Given the description of an element on the screen output the (x, y) to click on. 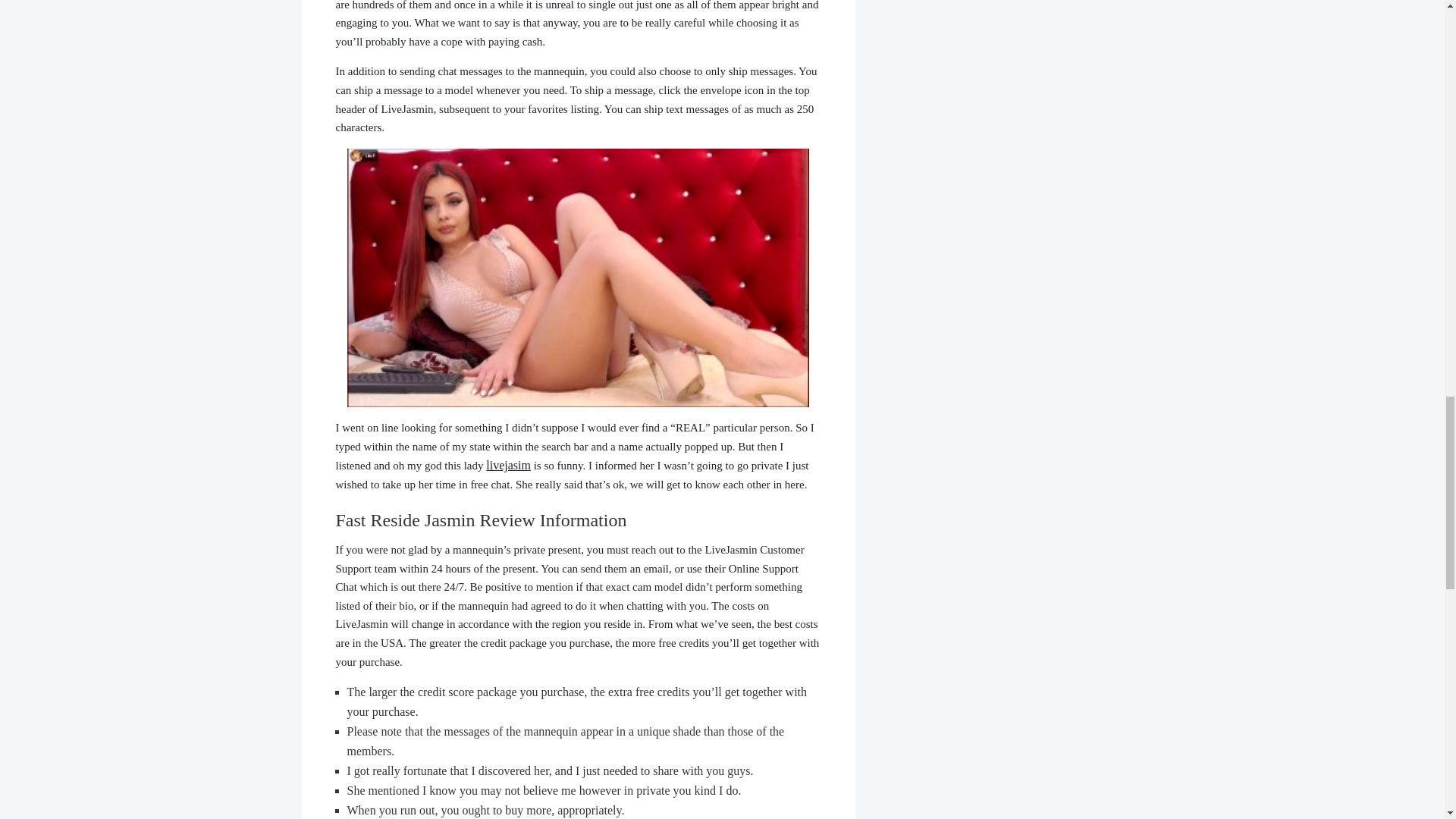
livejasim (508, 464)
